Given the description of an element on the screen output the (x, y) to click on. 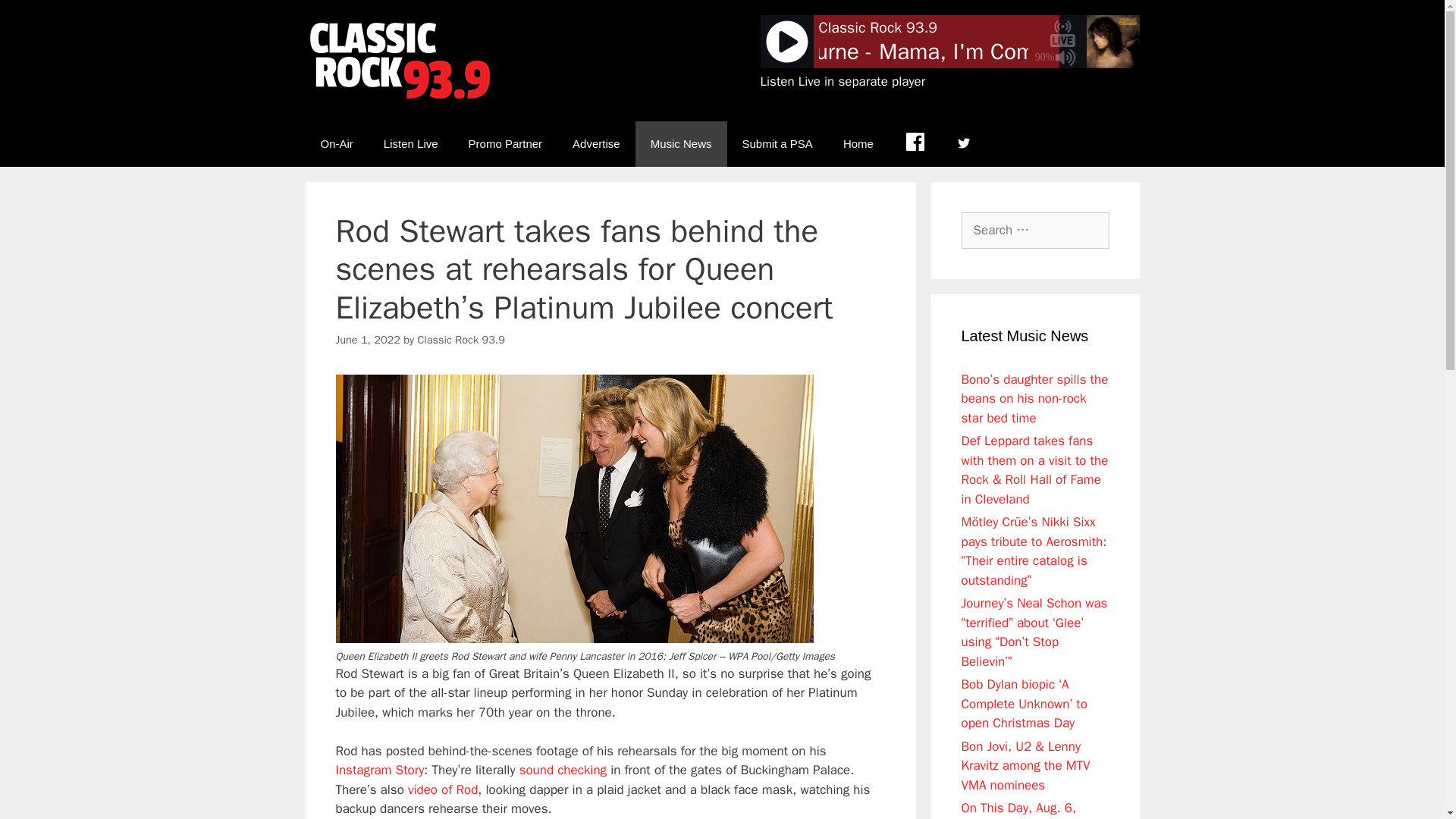
Search for: (1034, 230)
Promo Partner (504, 144)
View all posts by Classic Rock 93.9 (459, 339)
Submit a PSA (776, 144)
sound checking (563, 770)
Listen Live in separate player (842, 81)
Instagram Story (378, 770)
Home (858, 144)
On-Air (336, 144)
Advertise (595, 144)
Classic Rock 93.9 (459, 339)
Menu Item (915, 144)
Music News (680, 144)
Listen Live (410, 144)
